Given the description of an element on the screen output the (x, y) to click on. 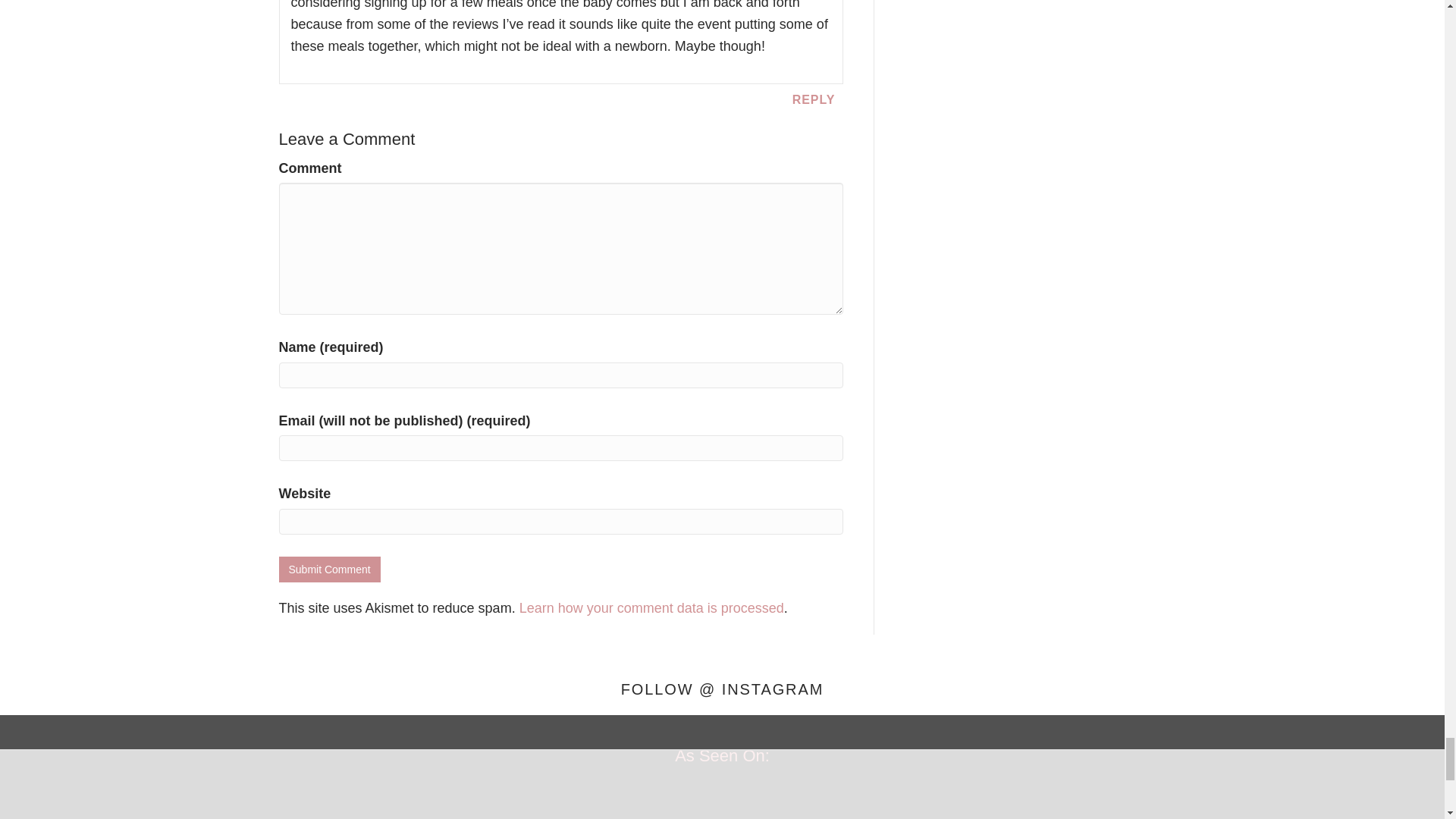
Submit Comment (329, 569)
